Given the description of an element on the screen output the (x, y) to click on. 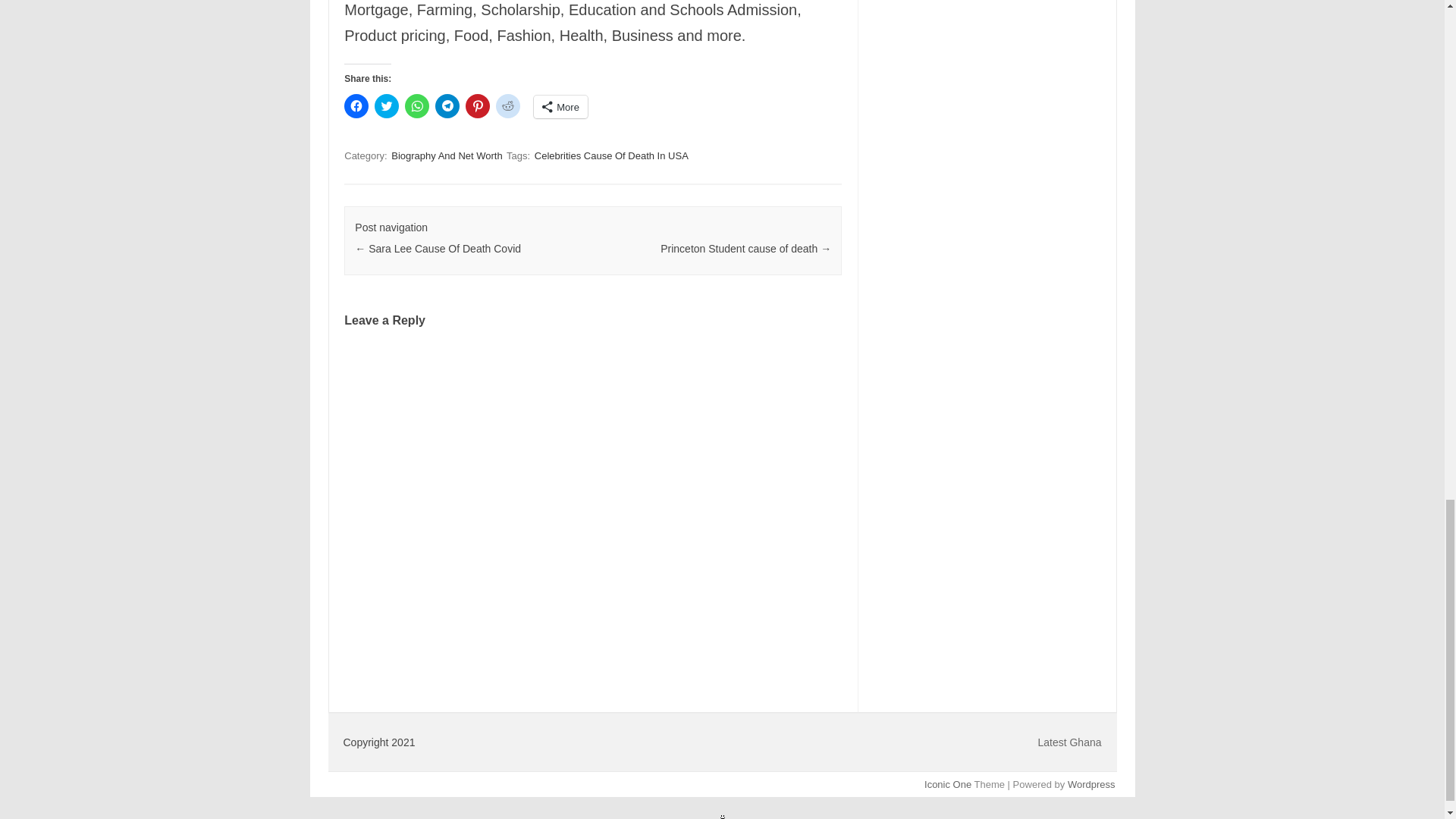
Wordpress (1091, 784)
Click to share on Reddit (507, 105)
Click to share on Pinterest (477, 105)
Click to share on Twitter (386, 105)
Click to share on Telegram (447, 105)
Celebrities Cause Of Death In USA (611, 155)
Biography And Net Worth (446, 155)
Click to share on WhatsApp (416, 105)
More (561, 106)
Latest Ghana (1068, 742)
Iconic One (947, 784)
Click to share on Facebook (355, 105)
